Given the description of an element on the screen output the (x, y) to click on. 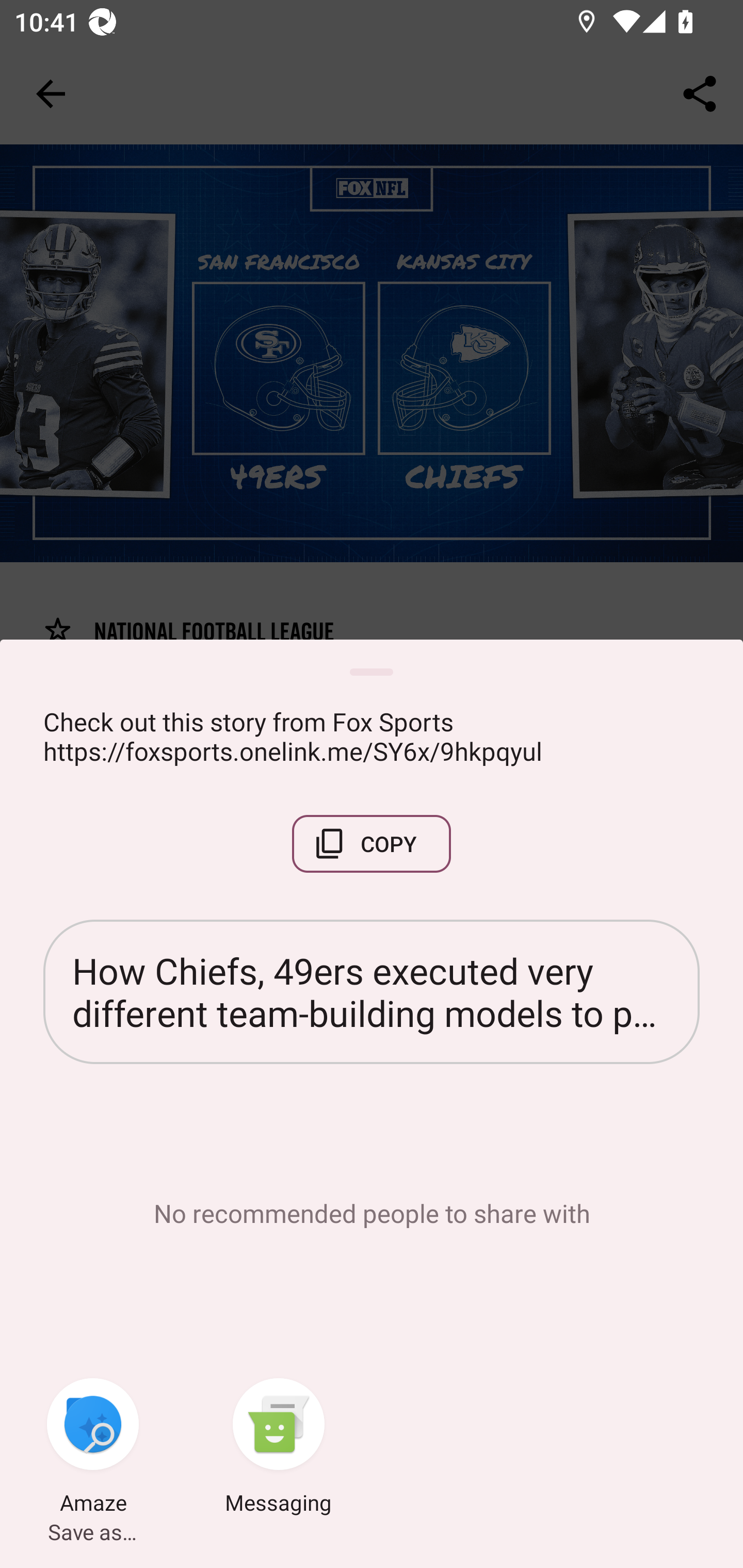
COPY (371, 844)
Amaze Save as… (92, 1448)
Messaging (278, 1448)
